Given the description of an element on the screen output the (x, y) to click on. 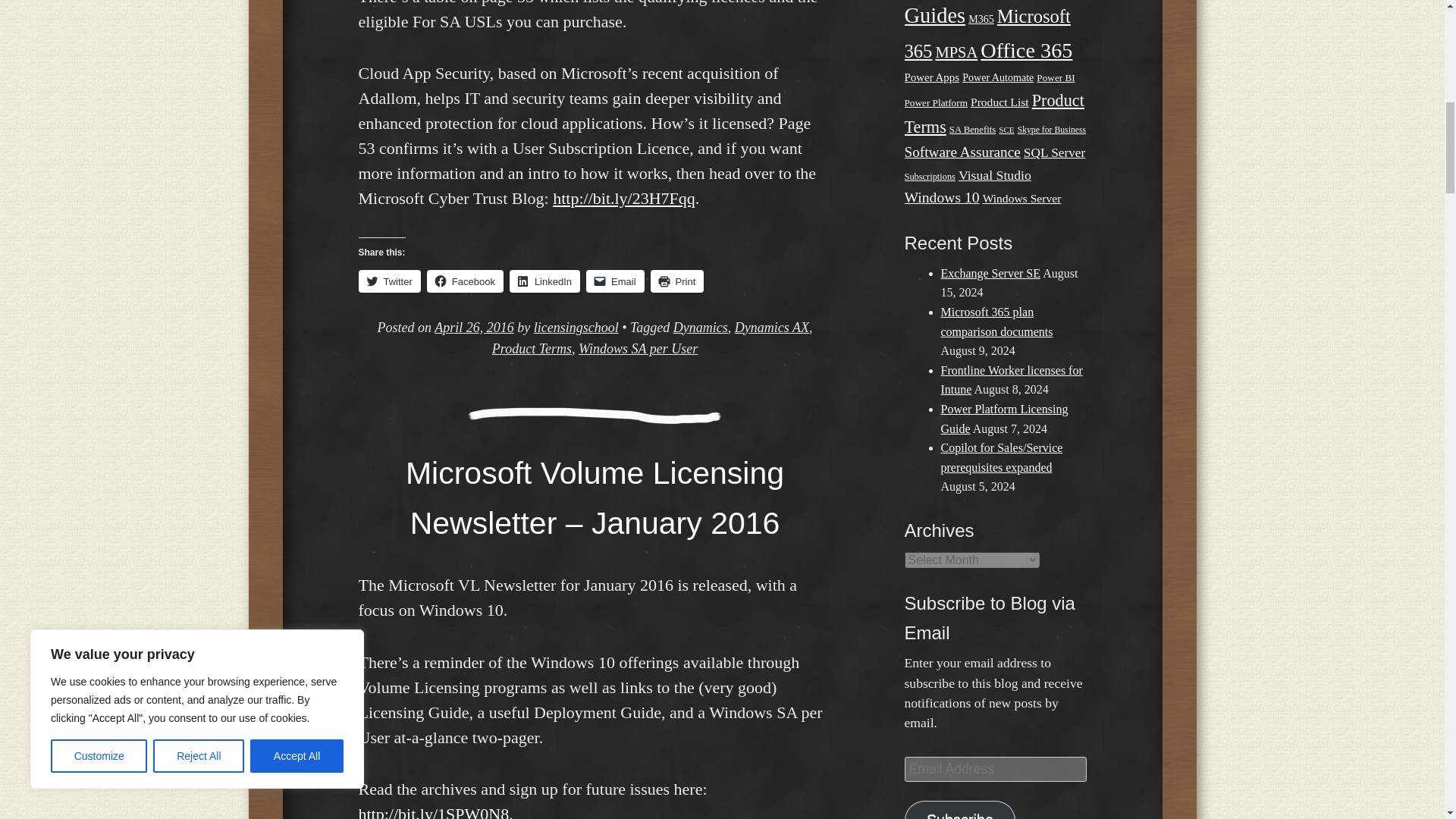
Dynamics AX (772, 327)
April 26, 2016 (473, 327)
Facebook (464, 281)
2:39 pm (473, 327)
Product Terms (532, 348)
Click to share on Twitter (389, 281)
Click to share on LinkedIn (544, 281)
licensingschool (576, 327)
Click to share on Facebook (464, 281)
Click to print (677, 281)
